Given the description of an element on the screen output the (x, y) to click on. 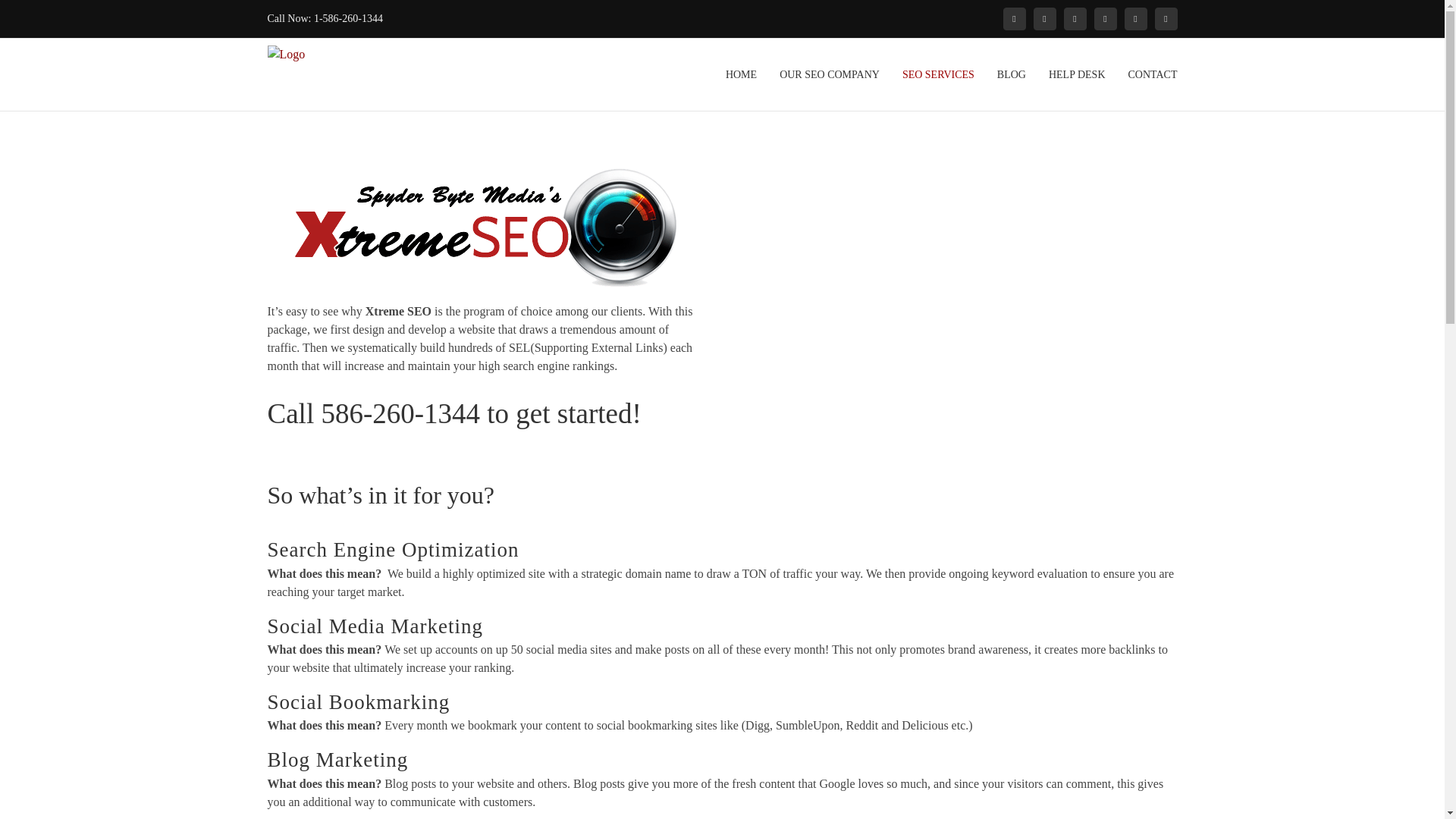
YouTube (1165, 18)
X (1135, 18)
Facebook (1014, 18)
LinkedIn (1074, 18)
X (1135, 18)
Flickr (1043, 18)
LinkedIn (1074, 18)
SEO SERVICES (938, 74)
Facebook (1014, 18)
Michigan SEO Services (938, 74)
